Given the description of an element on the screen output the (x, y) to click on. 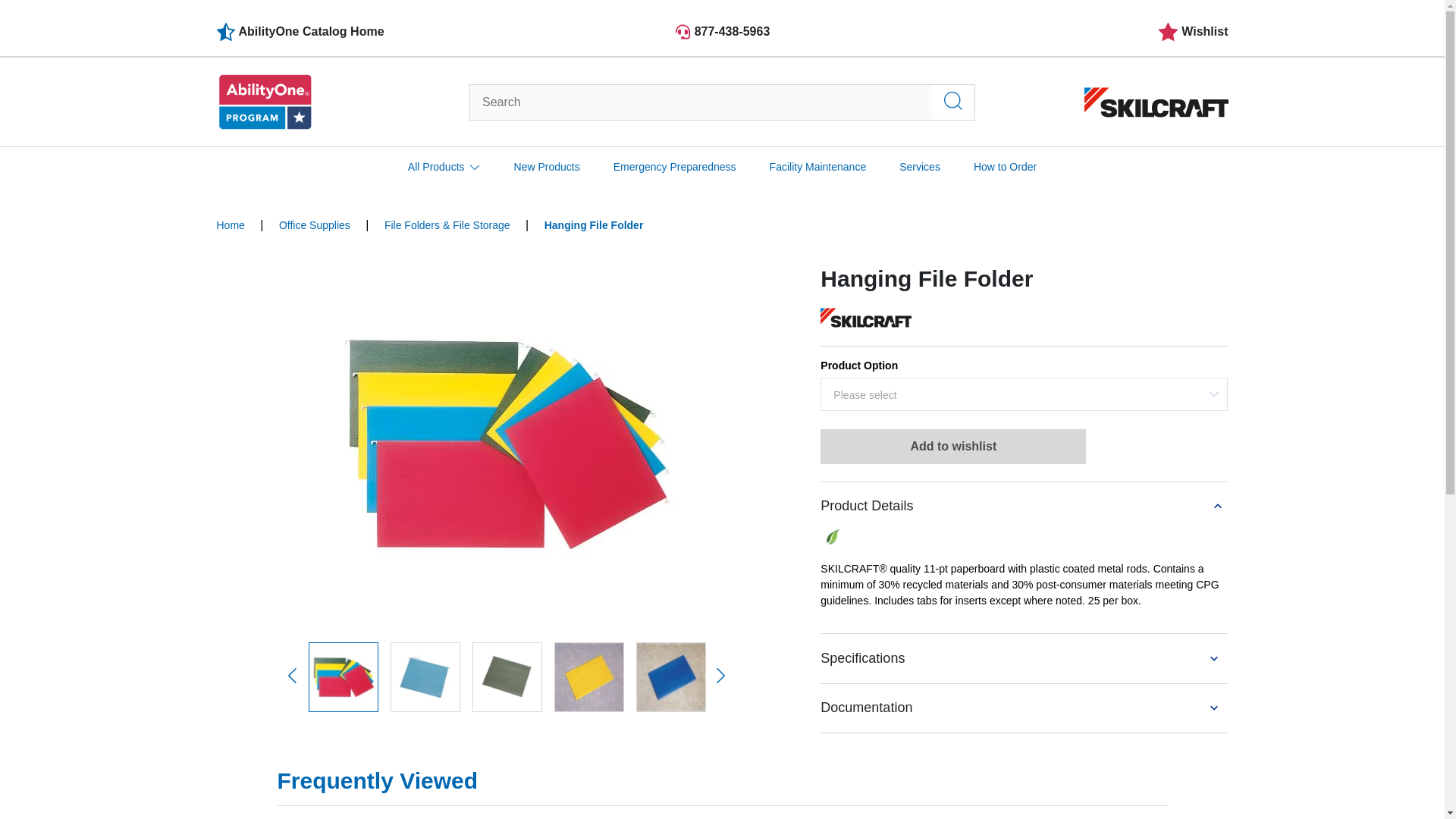
All Products (443, 166)
Wishlist (1192, 31)
Home (230, 224)
Emergency Preparedness (674, 166)
Add to wishlist (953, 446)
AbilityOne Catalog Home (385, 31)
New Products (546, 166)
Office Supplies (314, 224)
How to Order (1005, 166)
Services (919, 166)
